Given the description of an element on the screen output the (x, y) to click on. 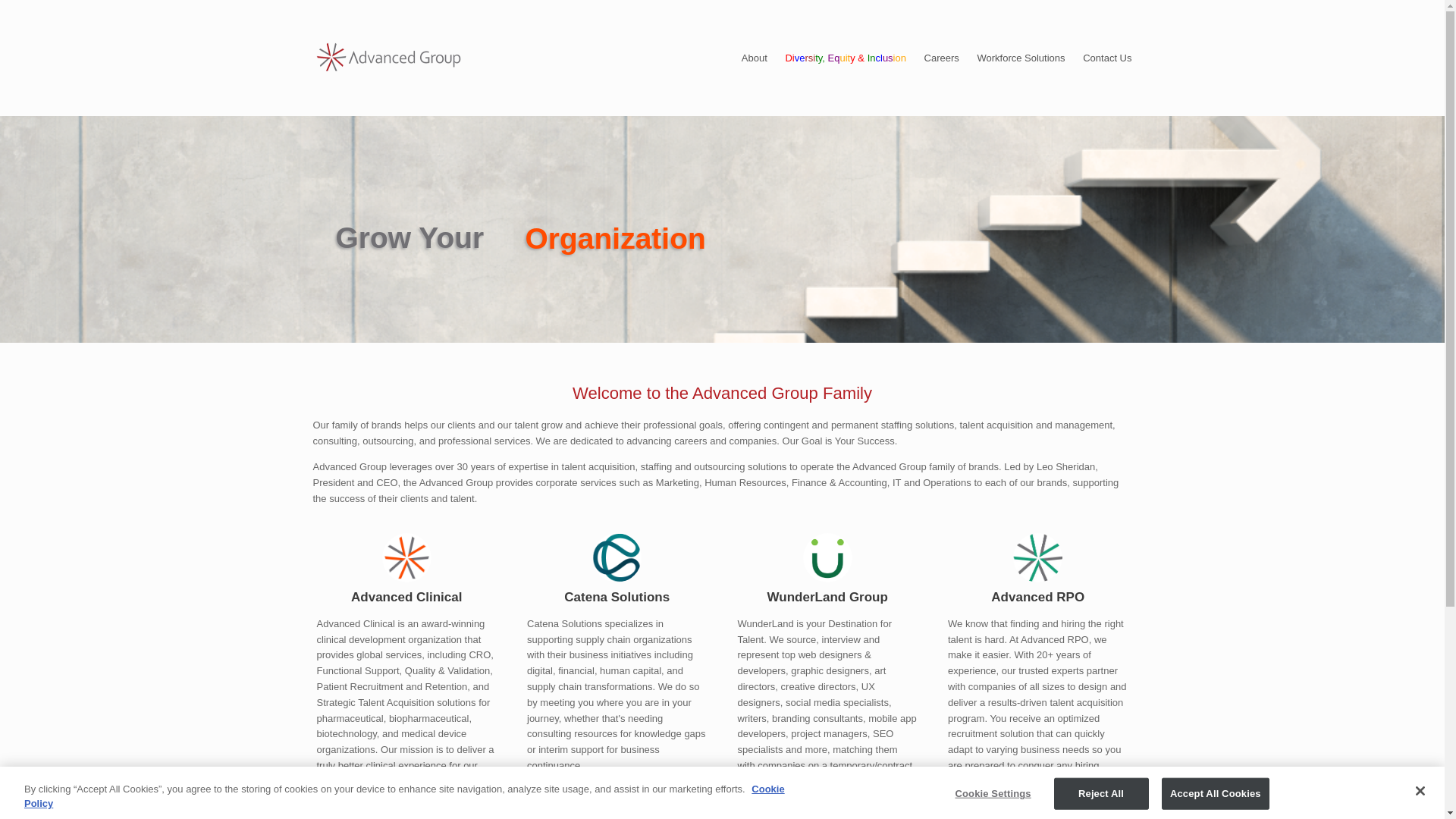
About (754, 57)
Careers (941, 57)
Workforce Solutions (1020, 57)
Catena Solutions (617, 597)
Learn more (407, 807)
Learn more (826, 807)
Advanced Group (388, 57)
WunderLand Group (826, 597)
Learn more (1037, 807)
Contact Us (1107, 57)
Advanced Clinical (407, 597)
Learn more (617, 791)
Advanced RPO (1037, 597)
